Given the description of an element on the screen output the (x, y) to click on. 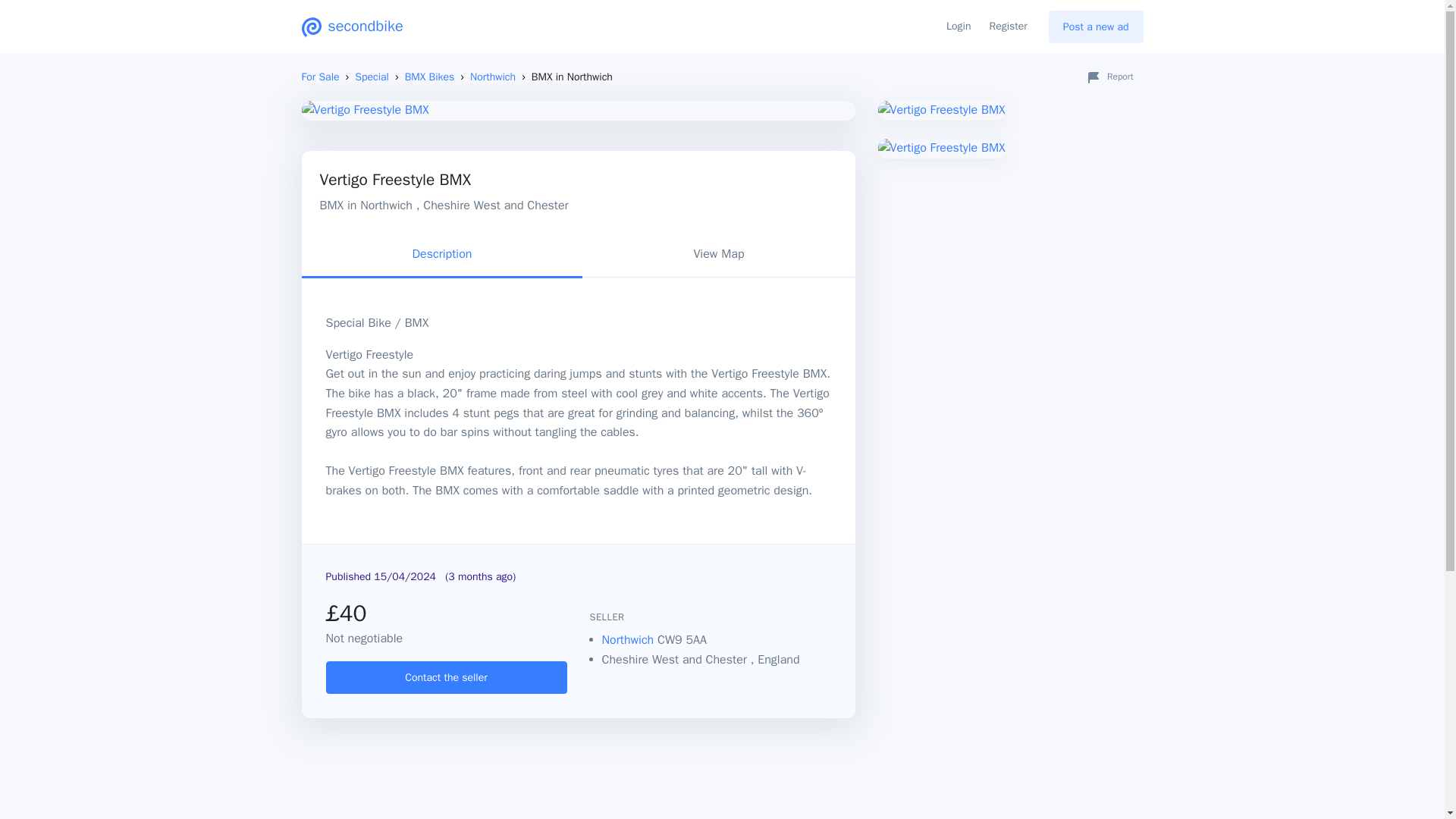
Vertigo Freestyle BMX (578, 110)
Report (1108, 76)
Northwich (630, 639)
For Sale (320, 76)
Advertisement (1009, 295)
Secondbike (352, 26)
secondbike (352, 26)
Create an account (446, 676)
Register (1007, 26)
BMX Bikes in Northwich (492, 76)
